Given the description of an element on the screen output the (x, y) to click on. 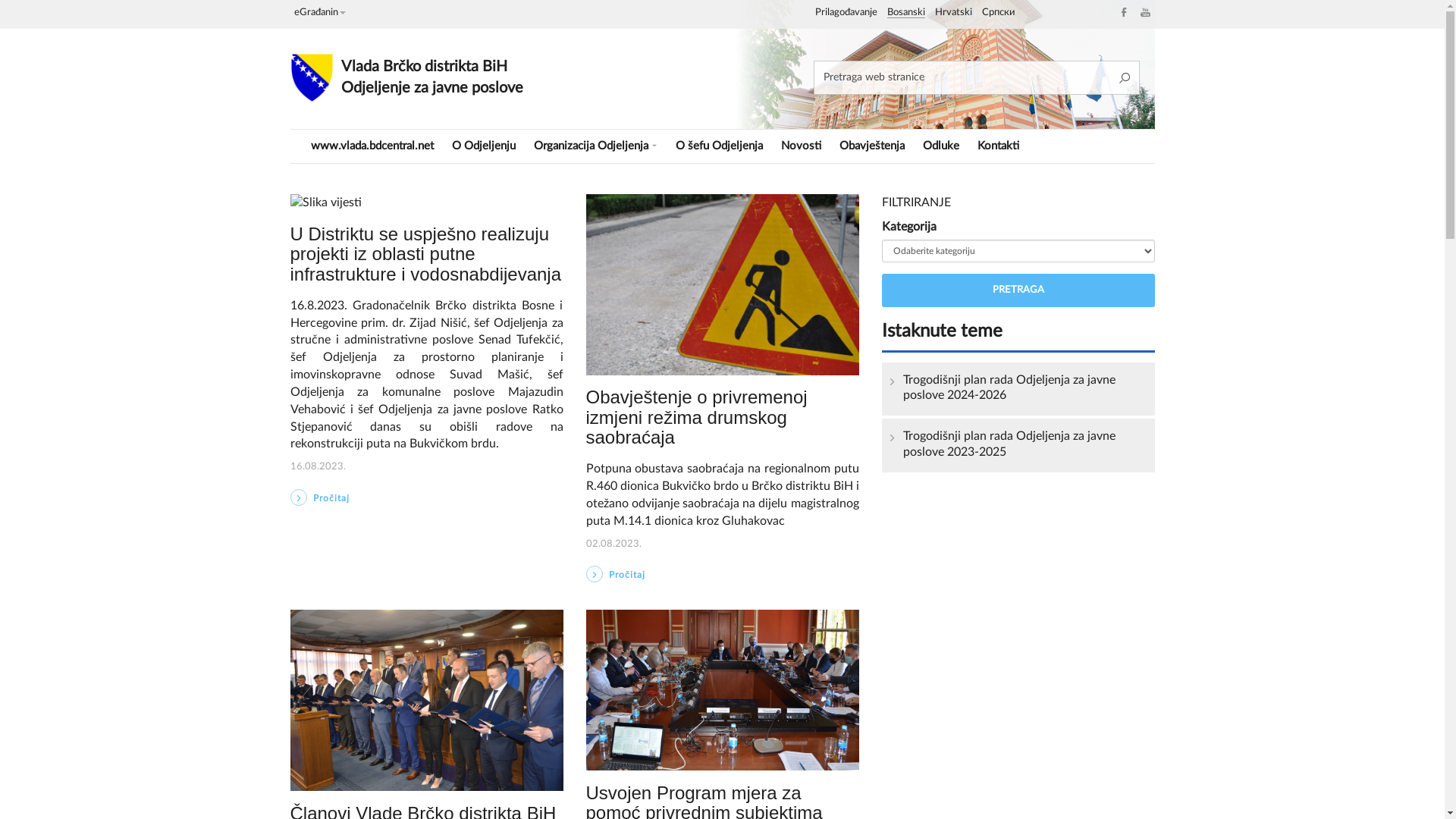
Bosanski Element type: text (906, 12)
Kontakti Element type: text (997, 146)
O Odjeljenju Element type: text (483, 146)
Odluke Element type: text (940, 146)
www.vlada.bdcentral.net Element type: text (371, 146)
Organizacija Odjeljenja Element type: text (595, 146)
Hrvatski Element type: text (952, 12)
Novosti Element type: text (800, 146)
